Given the description of an element on the screen output the (x, y) to click on. 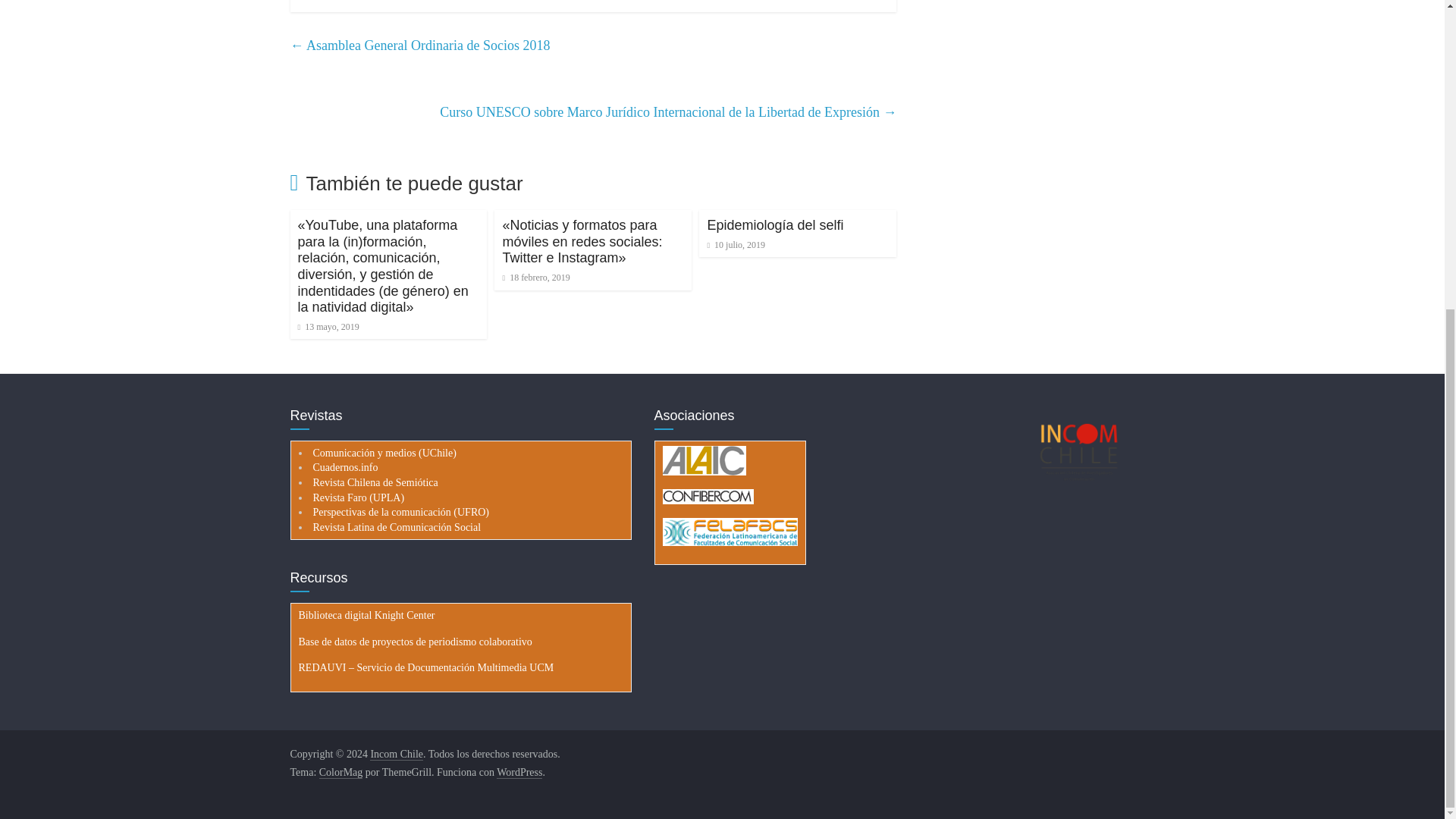
12:38 pm (735, 244)
WordPress (518, 772)
Incom Chile (396, 754)
4:29 pm (535, 276)
4:49 pm (327, 326)
ColorMag (340, 772)
